Given the description of an element on the screen output the (x, y) to click on. 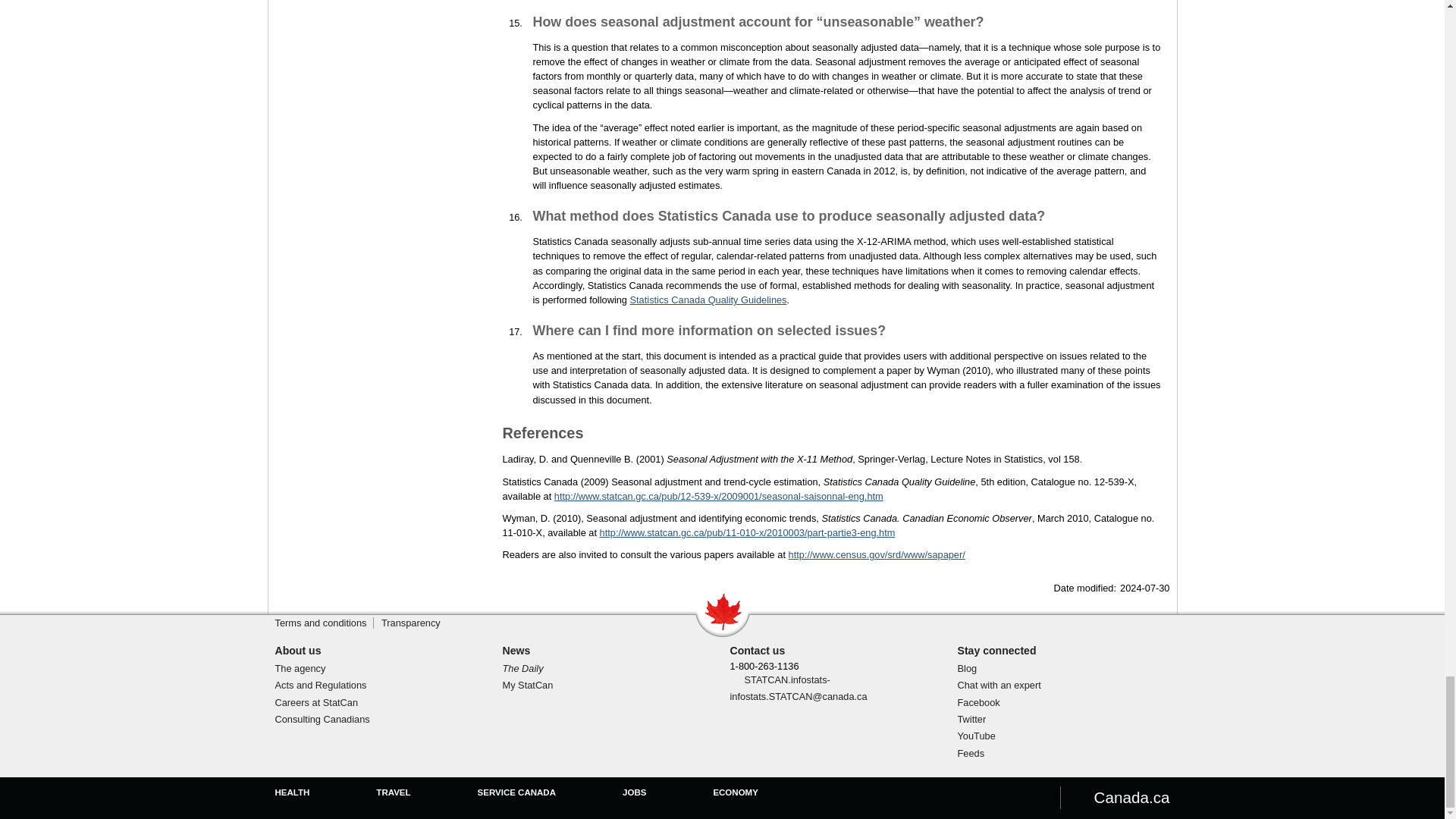
The Daily (522, 668)
Careers at StatCan (316, 702)
The agency (299, 668)
Transparency (411, 622)
News (515, 650)
Terms and conditions (320, 622)
Acts and Regulations (320, 685)
Consulting Canadians (322, 718)
About us (297, 650)
